Given the description of an element on the screen output the (x, y) to click on. 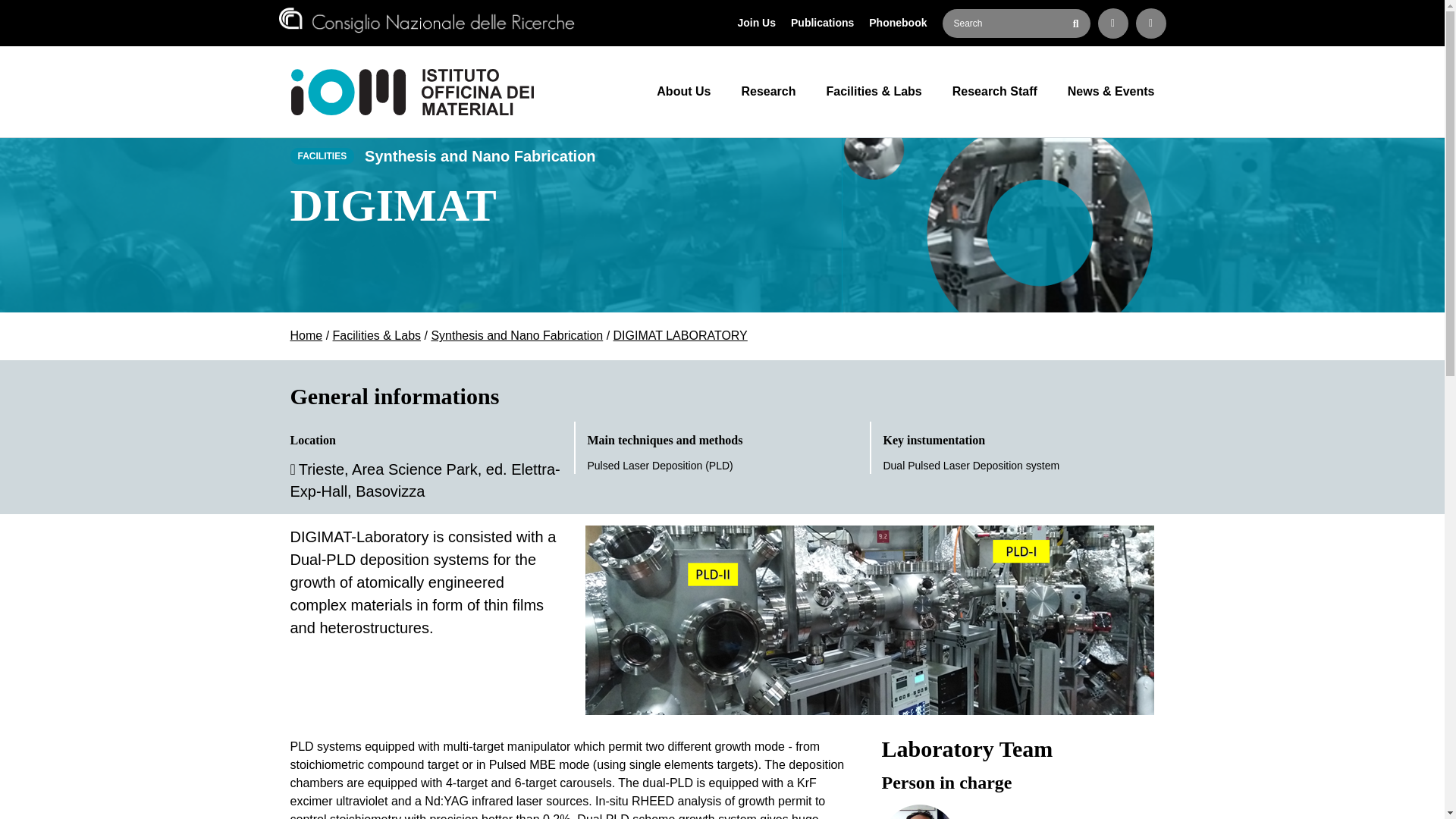
Research Staff (994, 91)
Join Us (1017, 811)
DIGIMAT LABORATORY (759, 22)
Research (680, 335)
Synthesis and Nano Fabrication (767, 91)
Phonebook (516, 335)
Publications (901, 22)
Home (825, 22)
About Us (305, 335)
